Given the description of an element on the screen output the (x, y) to click on. 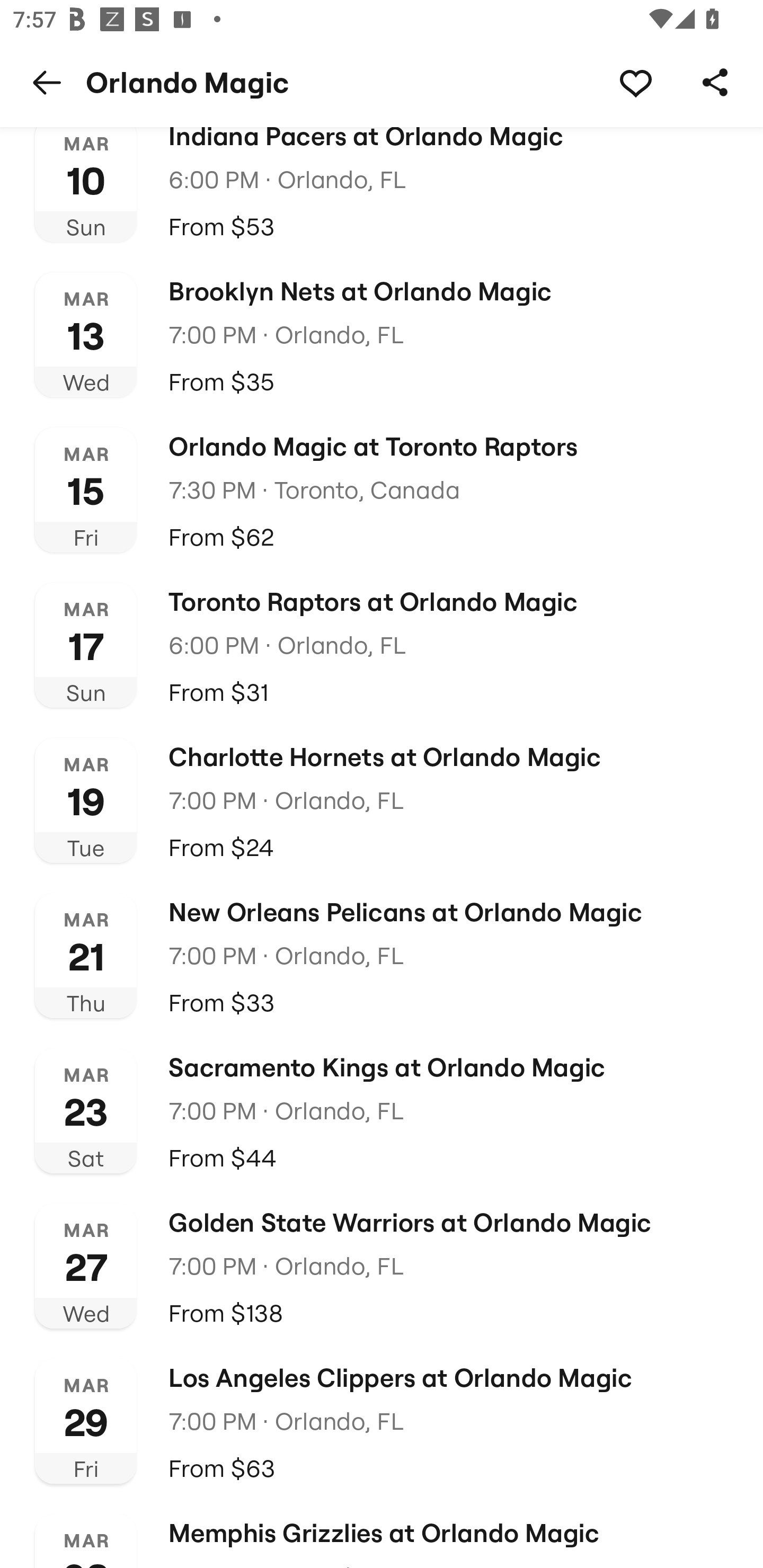
Back (47, 81)
Track this performer (635, 81)
Share this performer (715, 81)
